Given the description of an element on the screen output the (x, y) to click on. 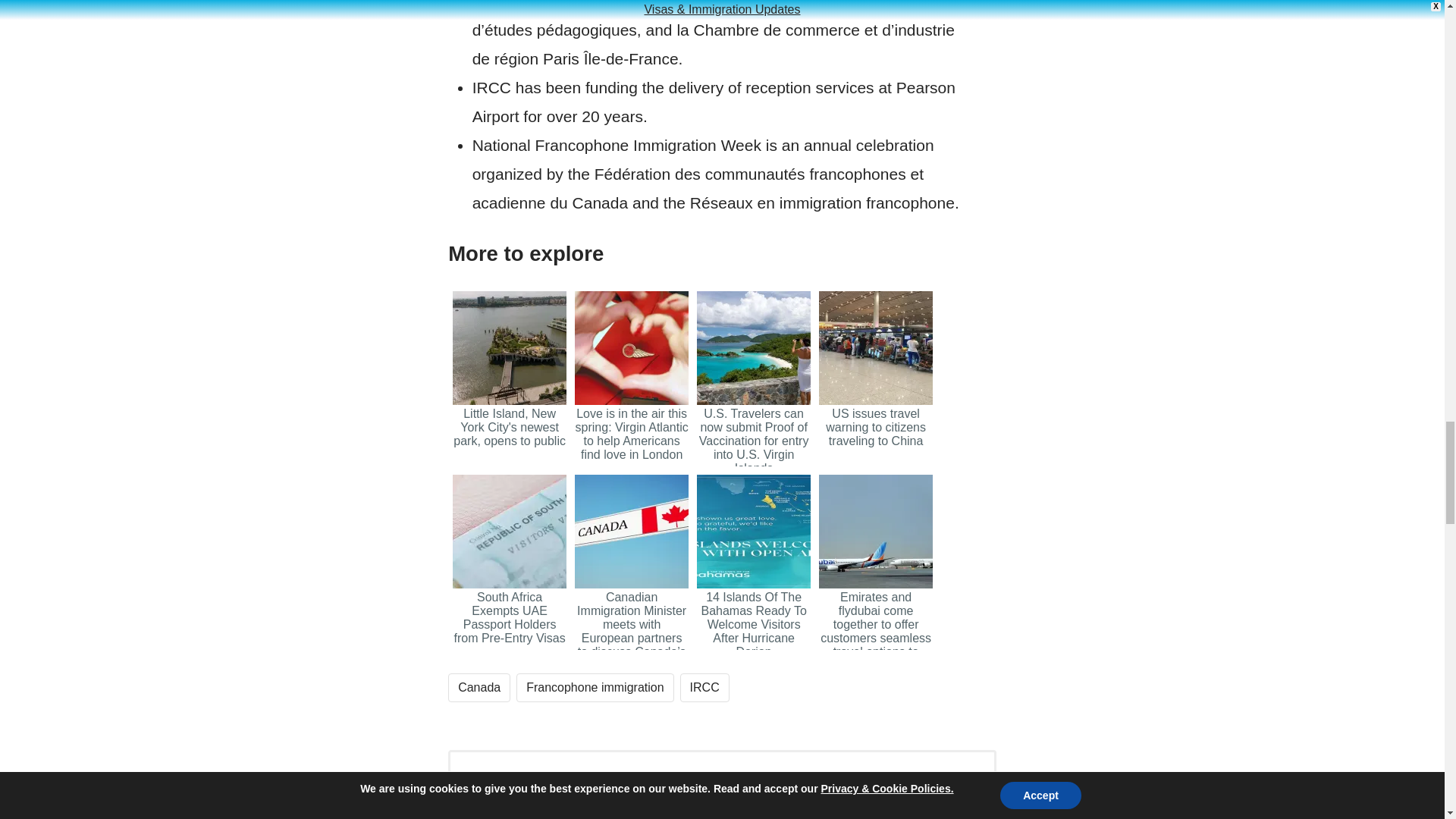
Search (889, 806)
View all posts tagged Canada (479, 687)
View all posts tagged IRCC (704, 687)
View all posts tagged Francophone immigration (594, 687)
Search (889, 806)
